Given the description of an element on the screen output the (x, y) to click on. 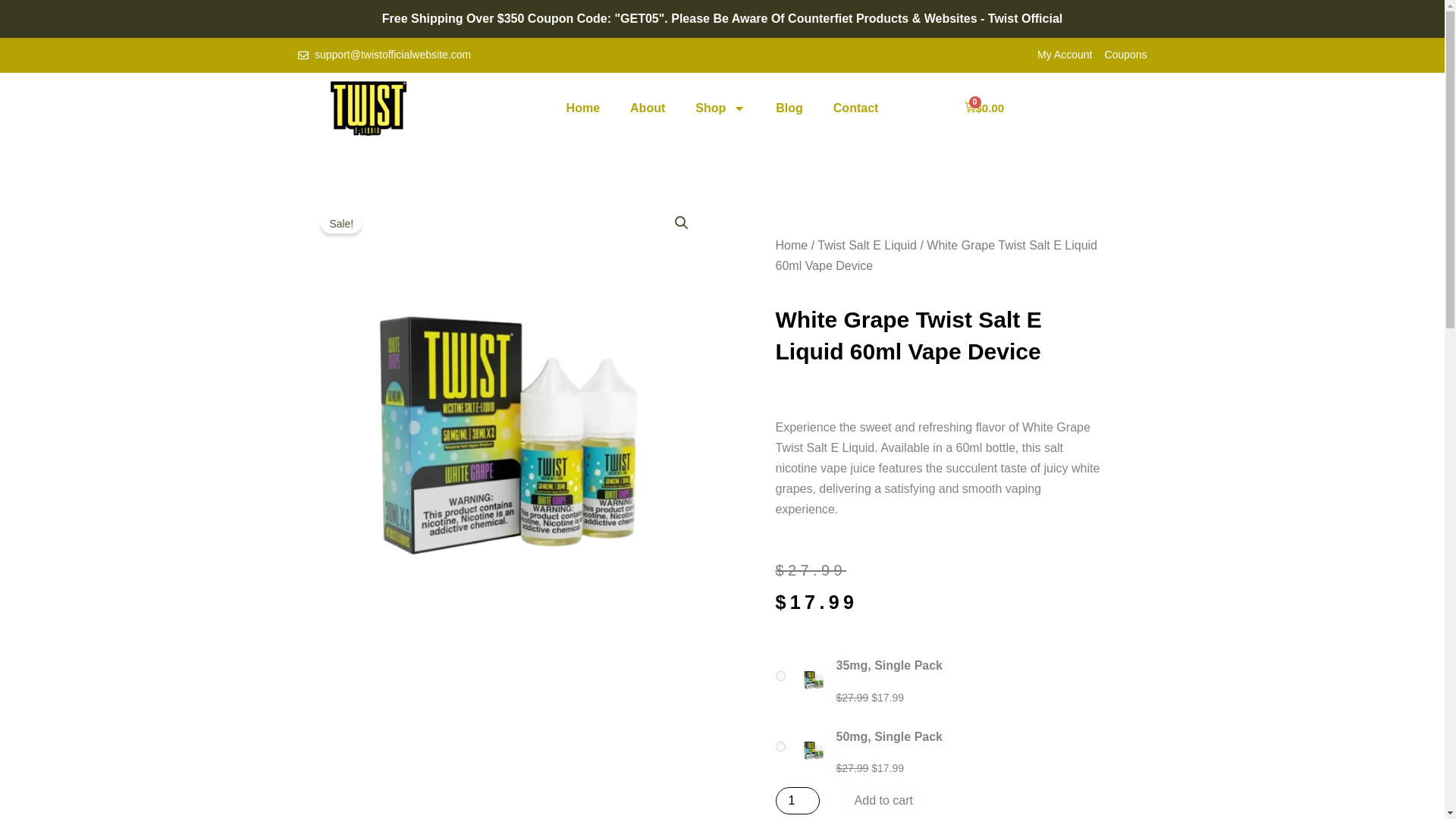
on (779, 675)
Contact (855, 108)
Coupons (1125, 55)
Shop (719, 108)
Twist Salt E Liquid (866, 245)
About (646, 108)
Add to cart (884, 800)
Blog (789, 108)
Home (791, 245)
My Account (1064, 55)
1 (796, 800)
on (779, 746)
Home (582, 108)
